Given the description of an element on the screen output the (x, y) to click on. 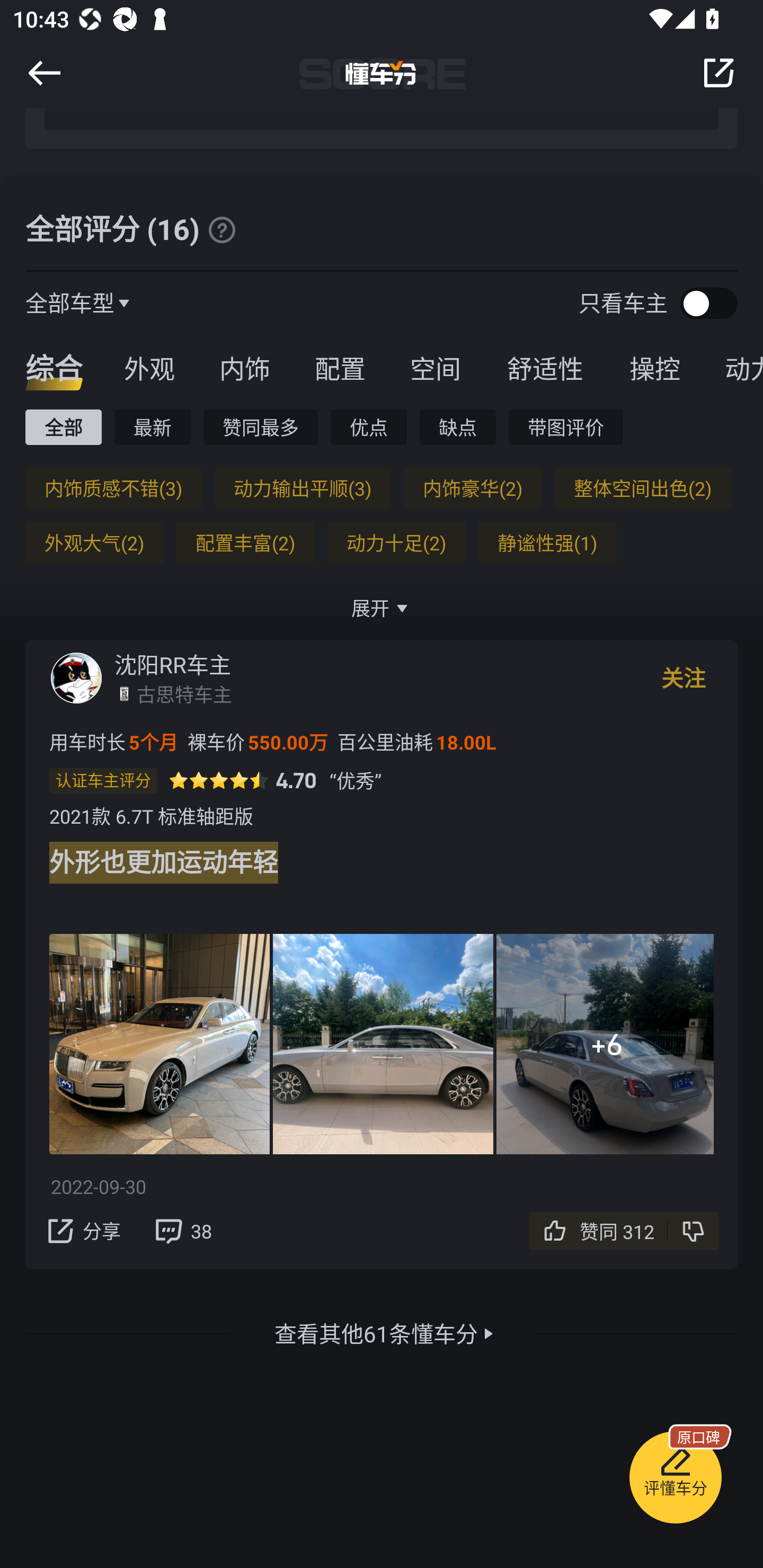
 (44, 72)
 (718, 72)
 (222, 229)
全部车型 (69, 302)
外观 (148, 368)
内饰 (244, 368)
配置 (339, 368)
空间 (434, 368)
舒适性 (544, 368)
操控 (654, 368)
全部 (63, 427)
最新 (152, 427)
赞同最多 (260, 427)
优点 (368, 427)
缺点 (457, 427)
带图评价 (565, 427)
内饰质感不错(3) (113, 488)
动力输出平顺(3) (302, 488)
内饰豪华(2) (472, 488)
整体空间出色(2) (642, 488)
外观大气(2) (94, 542)
配置丰富(2) (245, 542)
动力十足(2) (396, 542)
静谧性强(1) (547, 542)
展开  (381, 608)
沈阳RR车主 (172, 663)
关注 (683, 677)
古思特车主 (183, 693)
+6 (604, 1044)
 分享 (82, 1230)
 38 (182, 1230)
赞同 312 (619, 1231)
查看其他61条懂车分 (375, 1333)
 评懂车分 原口碑 (675, 1480)
